Given the description of an element on the screen output the (x, y) to click on. 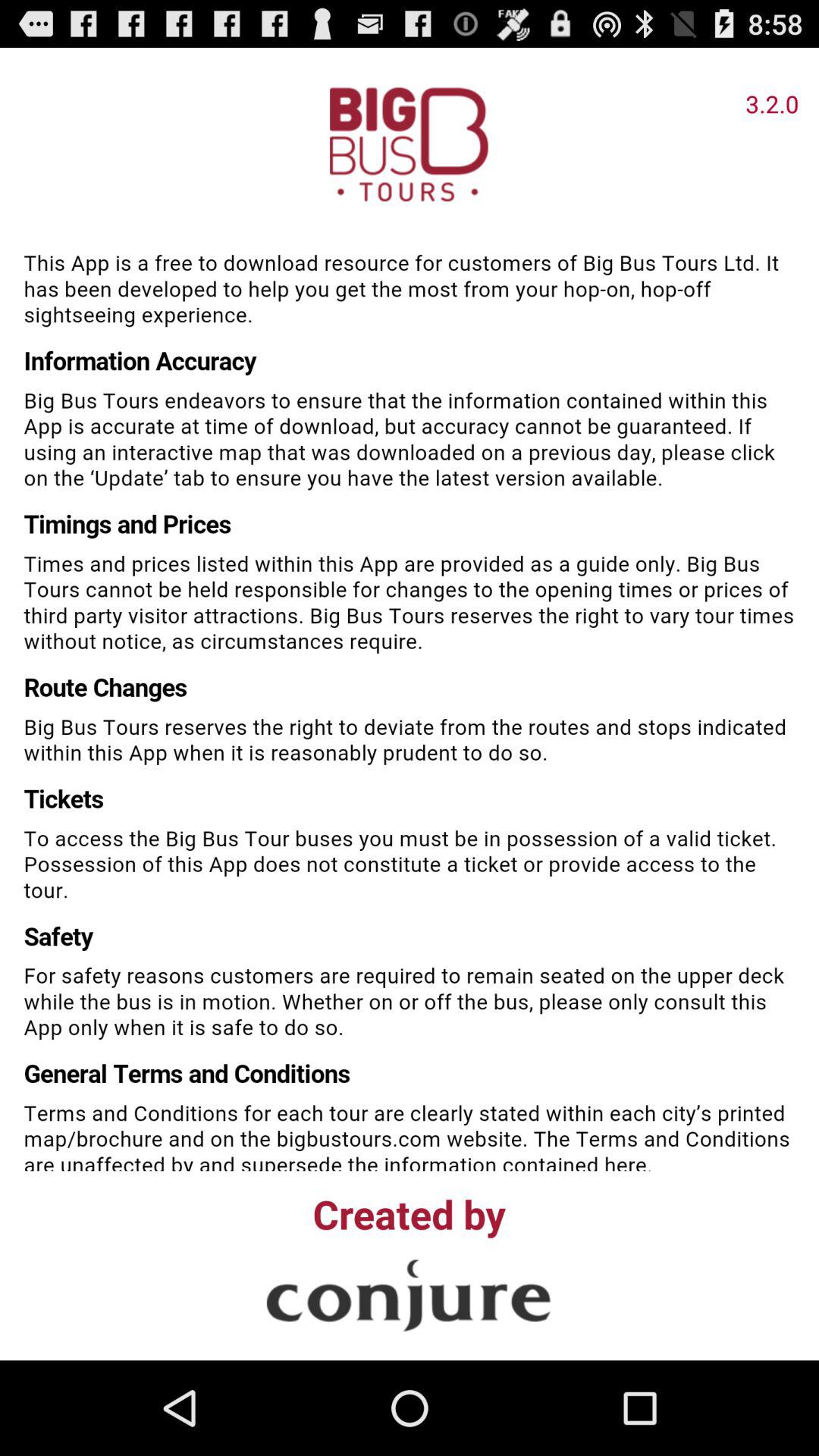
link to creator (408, 1295)
